Given the description of an element on the screen output the (x, y) to click on. 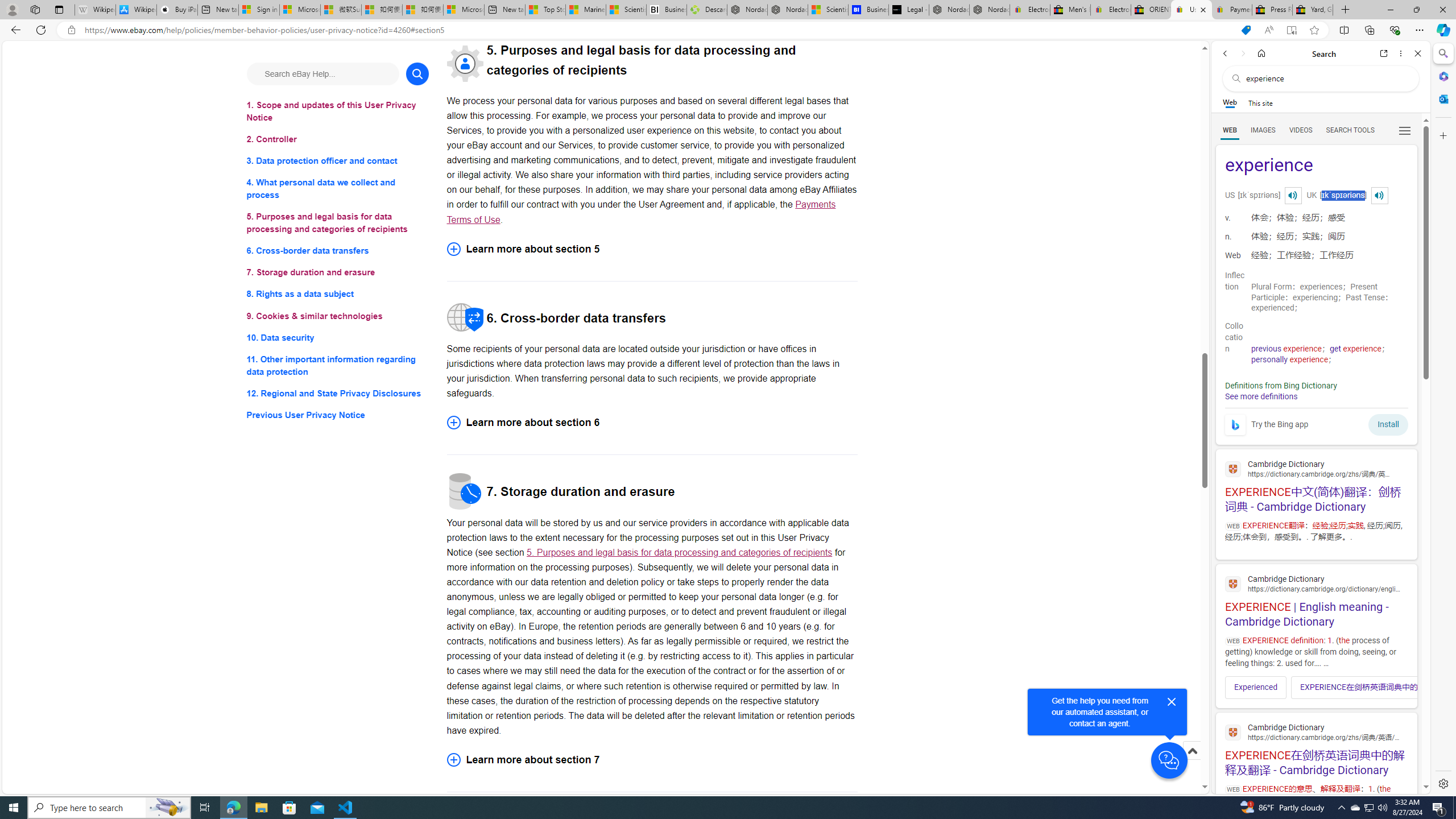
Search eBay Help... (322, 73)
Descarga Driver Updater (706, 9)
experience (1315, 165)
Search Filter, Search Tools (1350, 129)
4. What personal data we collect and process (337, 189)
Learn more about section 6 (651, 422)
This site has coupons! Shopping in Microsoft Edge (1245, 29)
Search the web (1326, 78)
Previous User Privacy Notice (337, 414)
Payments Terms of Use - opens in new window or tab (640, 211)
